Given the description of an element on the screen output the (x, y) to click on. 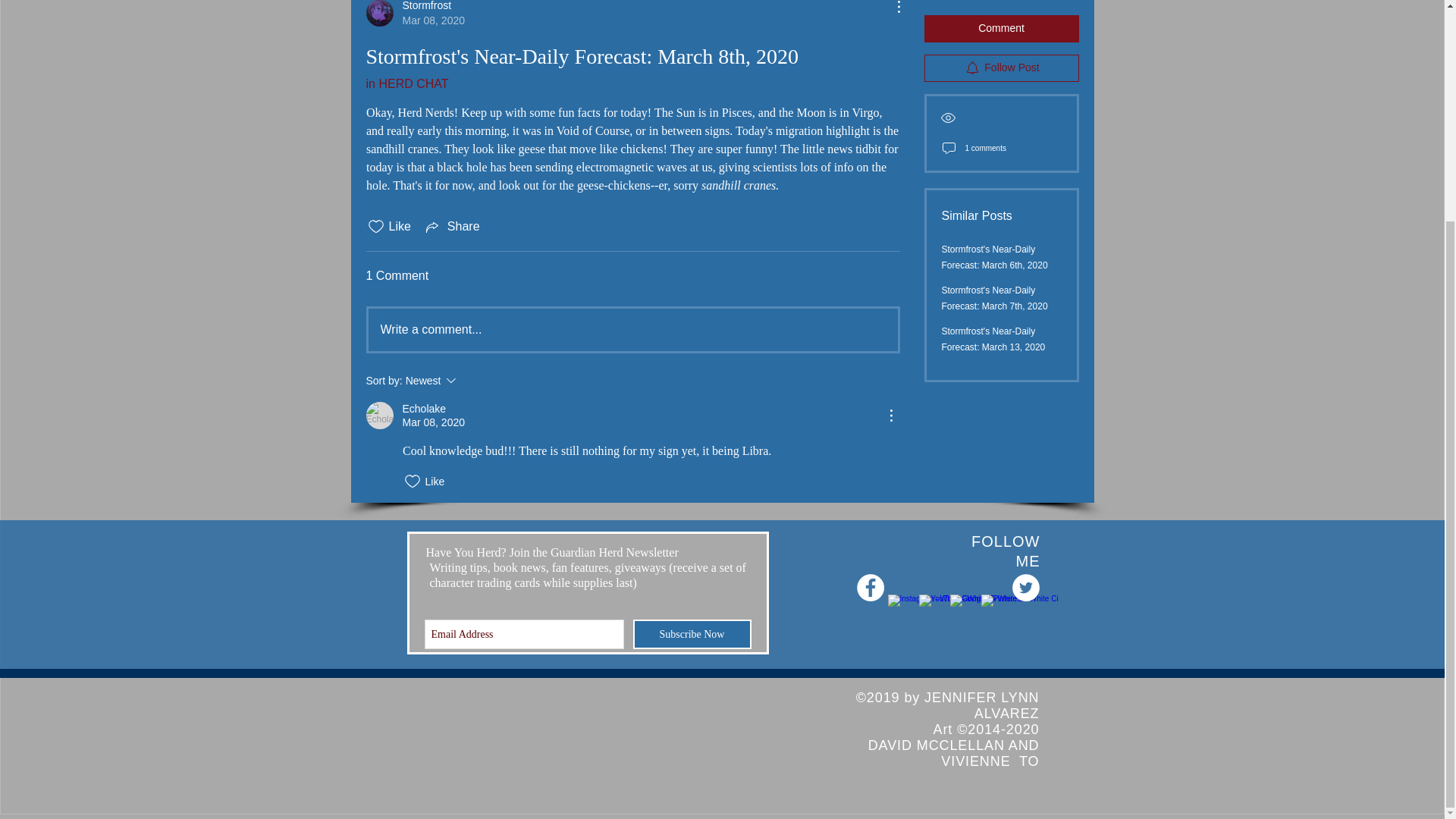
Echolake (379, 415)
